Given the description of an element on the screen output the (x, y) to click on. 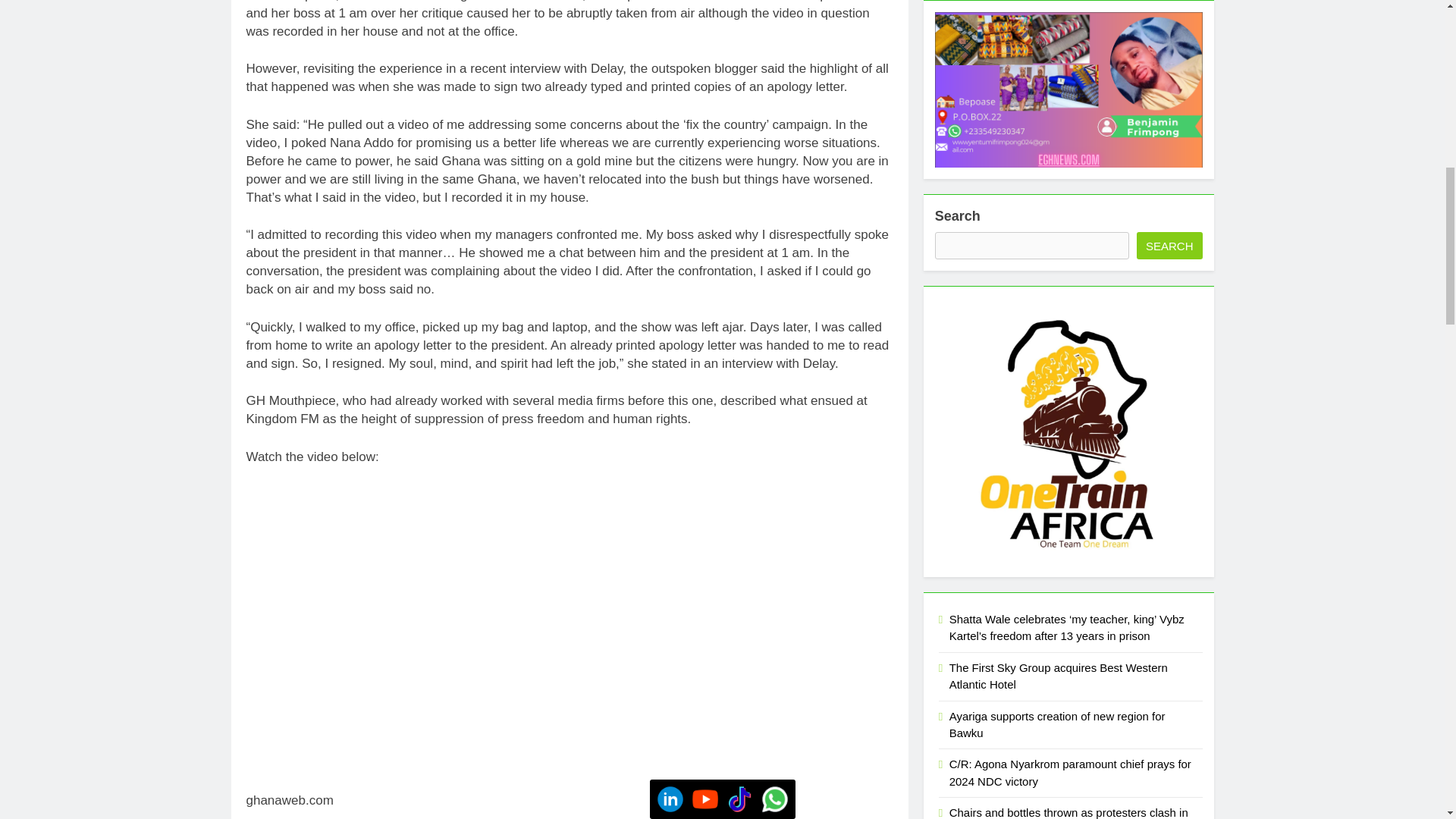
DELAY INTERVIEWS GH MOUTHPIECE (435, 591)
